Given the description of an element on the screen output the (x, y) to click on. 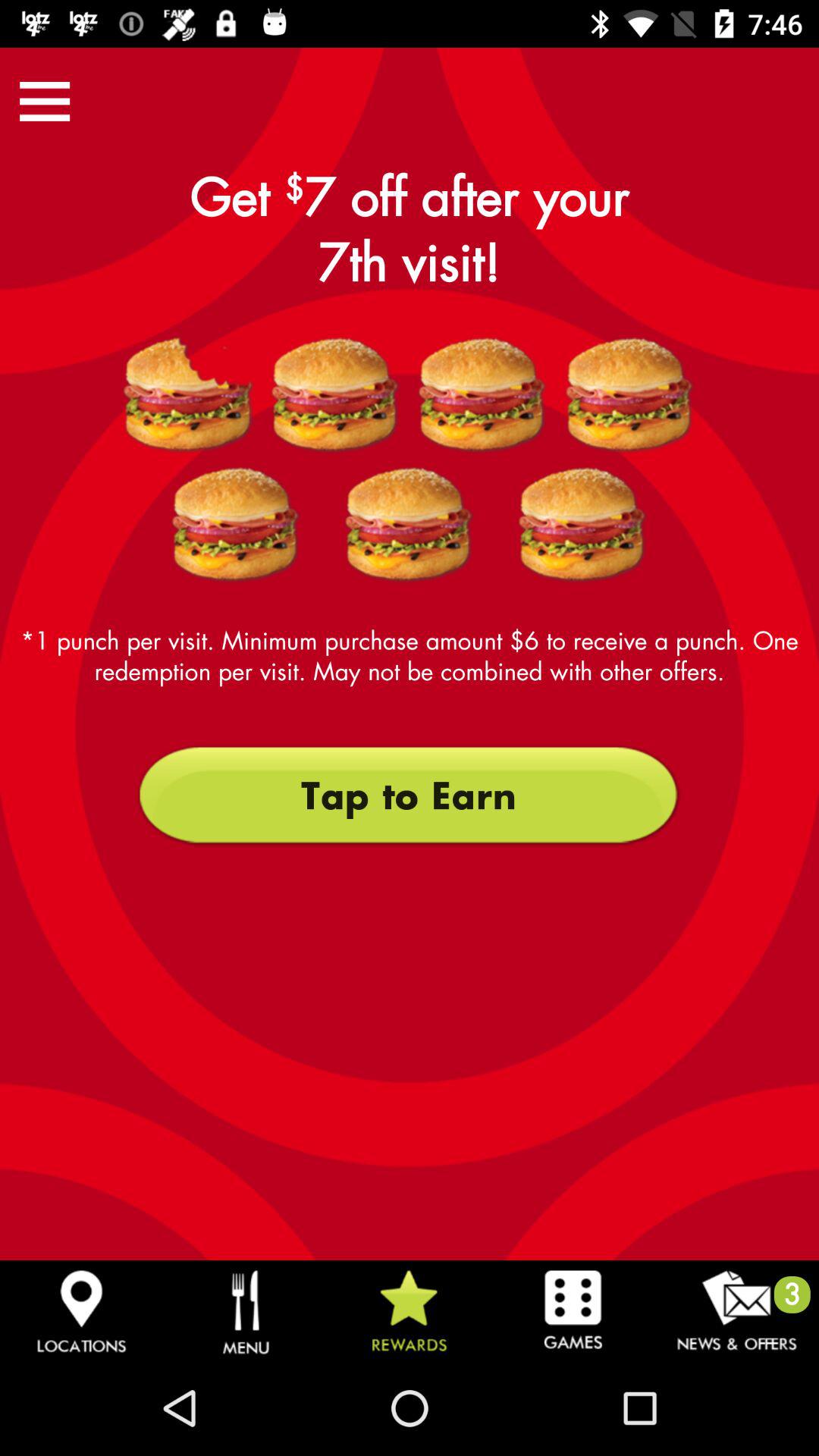
open menu (44, 101)
